Given the description of an element on the screen output the (x, y) to click on. 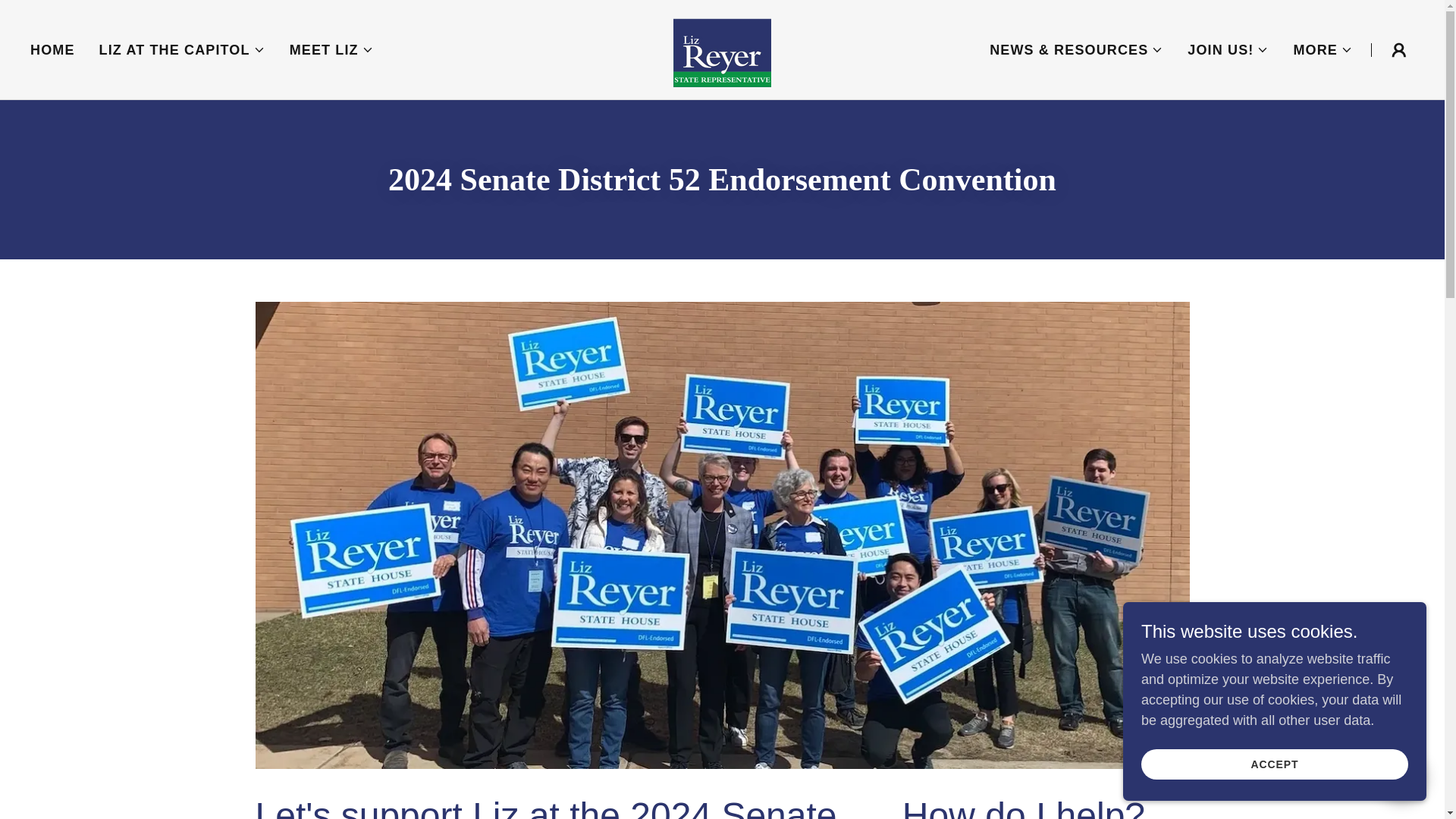
LIZ AT THE CAPITOL (181, 49)
HOME (53, 49)
MEET LIZ (331, 49)
Liz Reyer for 51B (721, 48)
